Given the description of an element on the screen output the (x, y) to click on. 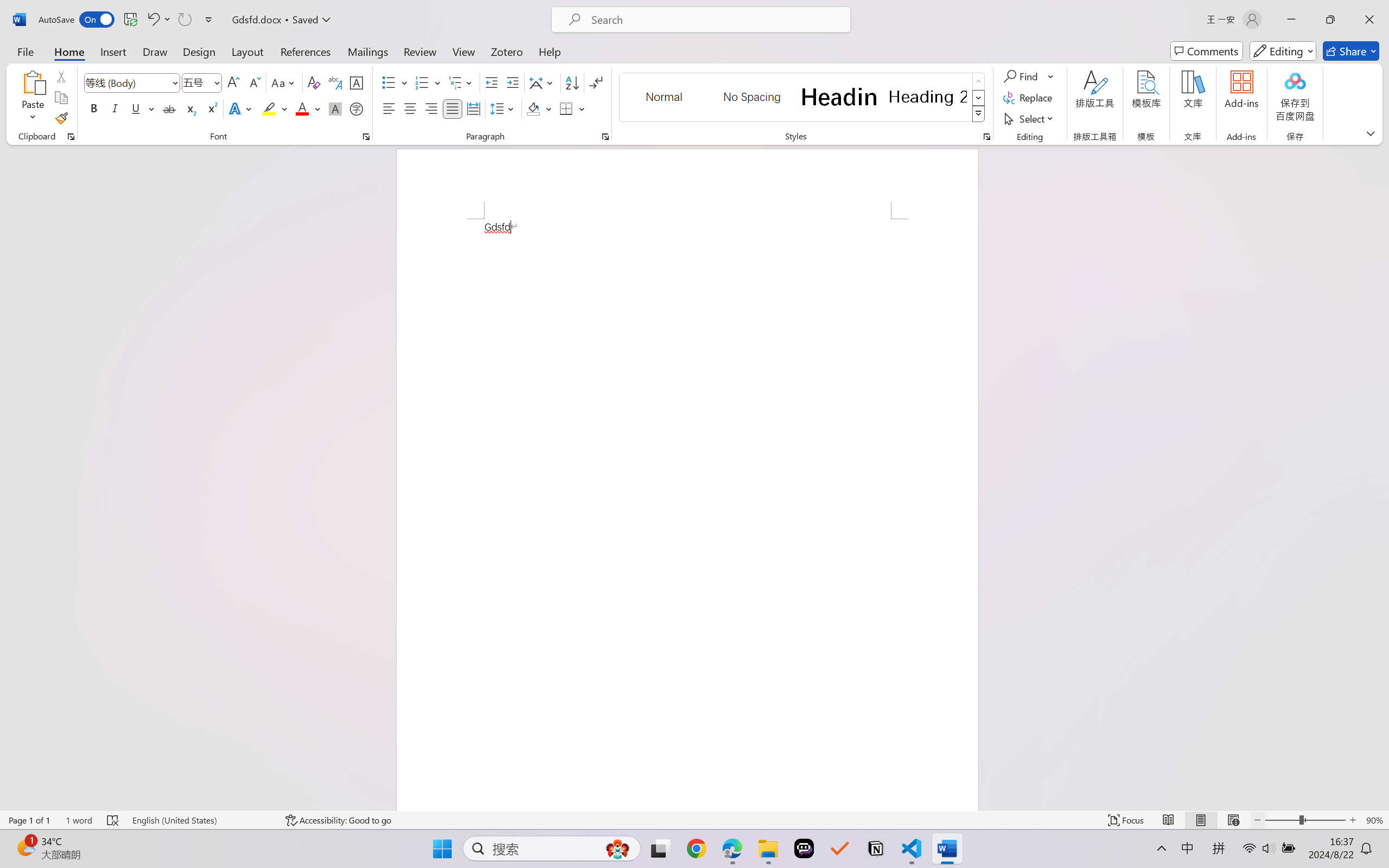
Phonetic Guide... (334, 82)
Shrink Font (253, 82)
Can't Repeat (184, 19)
Decrease Indent (491, 82)
Copy (60, 97)
Microsoft search (715, 19)
